Given the description of an element on the screen output the (x, y) to click on. 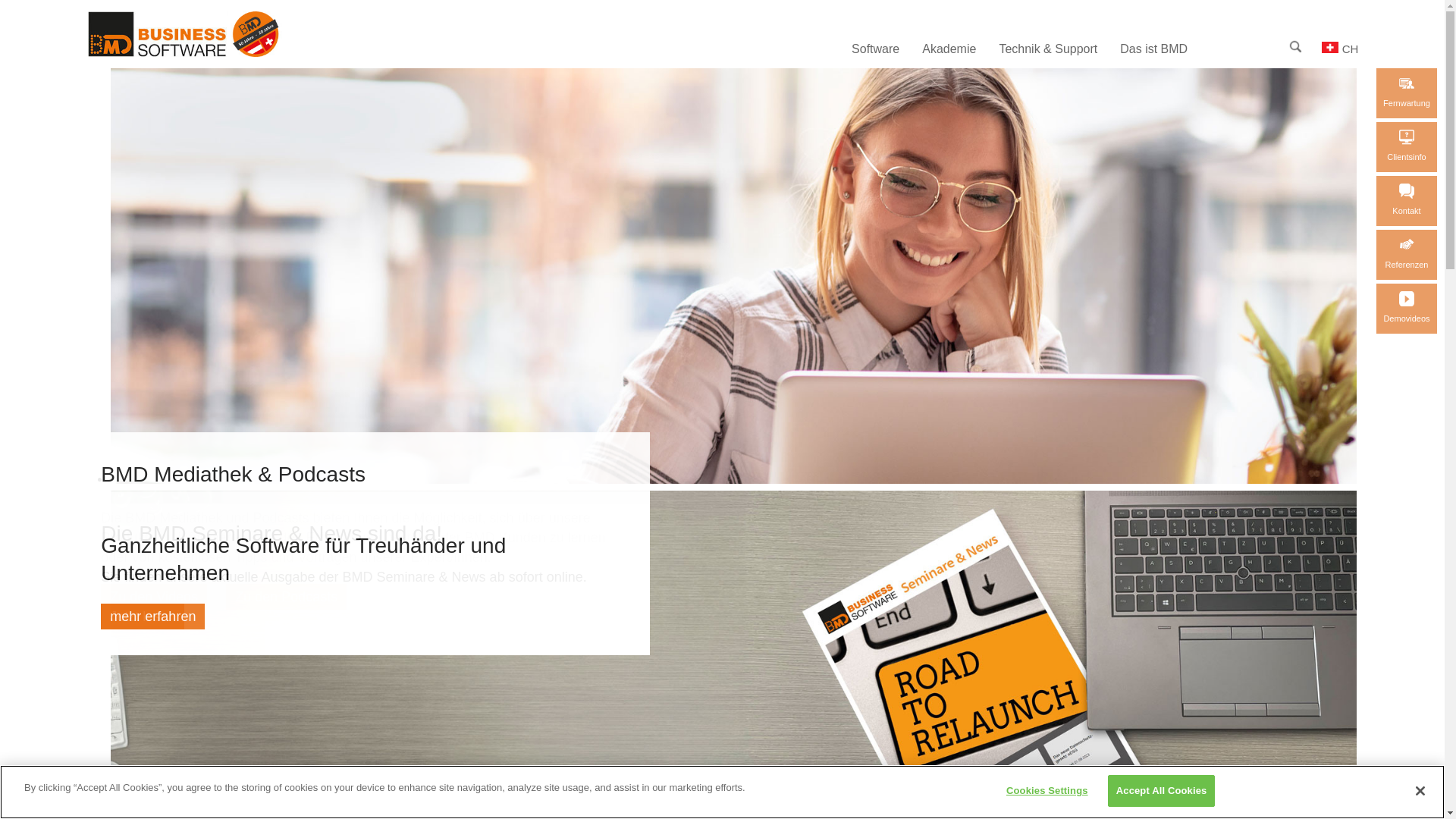
CH Element type: text (1339, 48)
mehr erfahren Element type: text (152, 616)
Referenzen Element type: text (1406, 254)
Cookies Settings Element type: text (1046, 790)
Zur Clientsinfo Element type: hover (1406, 136)
Fernwartung Element type: text (1406, 93)
Technik & Support Element type: text (1047, 49)
Ihr Kontakt zu BMD Element type: hover (1406, 190)
Zu den Videos Element type: text (153, 596)
Zu den Referenzen Element type: hover (1406, 244)
Zu den Podcasts Element type: text (285, 596)
BMD Schweiz Element type: hover (1330, 47)
Das ist BMD Element type: text (1153, 49)
Demovideos Element type: text (1406, 308)
Software Element type: text (875, 49)
Accept All Cookies Element type: text (1161, 790)
Clientsinfo Element type: text (1406, 147)
Suche Element type: hover (1295, 46)
Akademie Element type: text (948, 49)
Jetzt lesen Element type: text (142, 616)
BMD Schweiz AG Element type: hover (209, 52)
BMD Schweiz AG Element type: hover (209, 33)
Kontakt Element type: text (1406, 200)
